Given the description of an element on the screen output the (x, y) to click on. 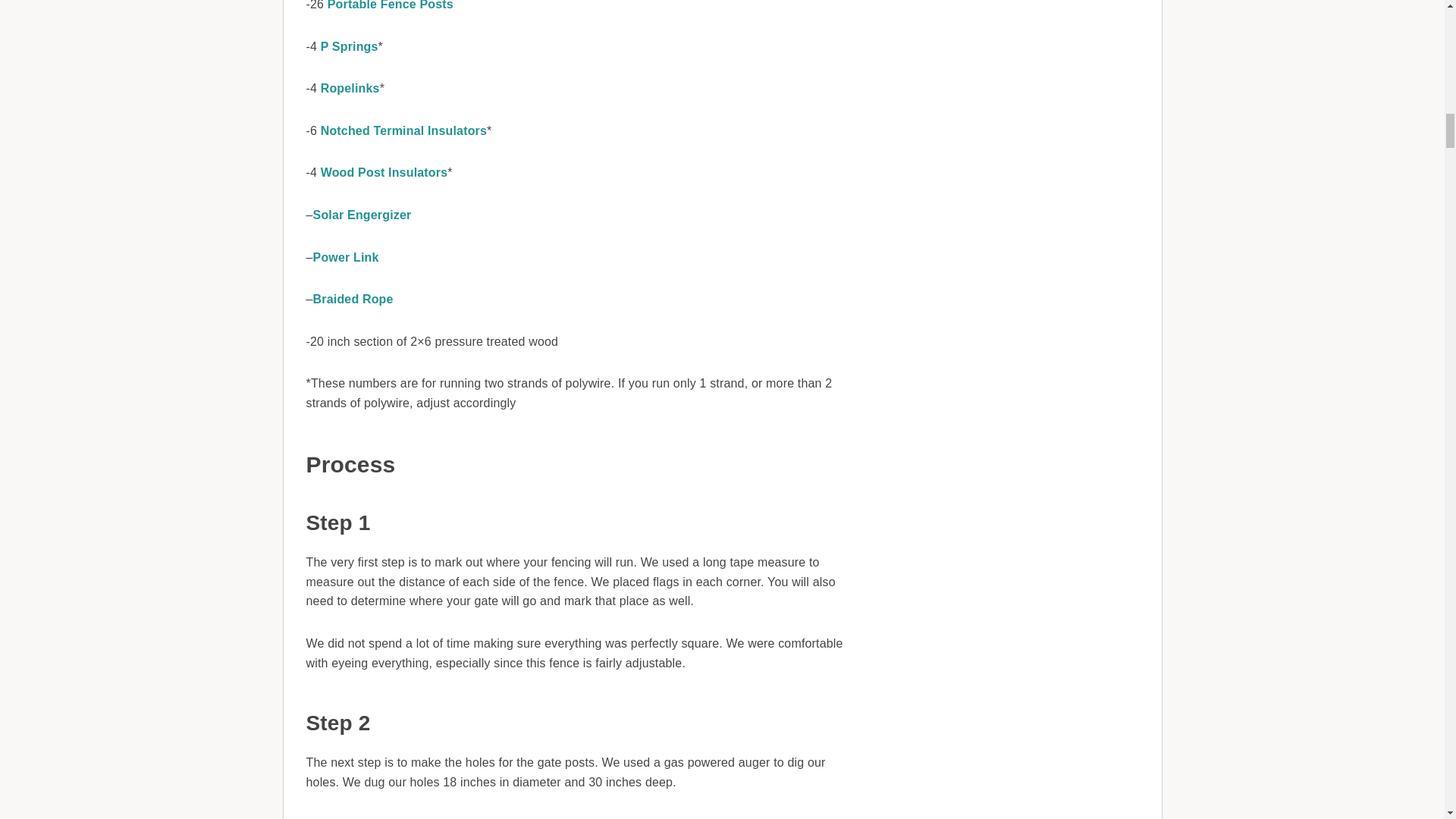
Ropelinks (350, 88)
Wood Post Insulators (384, 172)
P Springs (349, 46)
Solar Engergizer (362, 214)
Notched Terminal Insulators (403, 130)
Portable Fence Posts (389, 5)
